Given the description of an element on the screen output the (x, y) to click on. 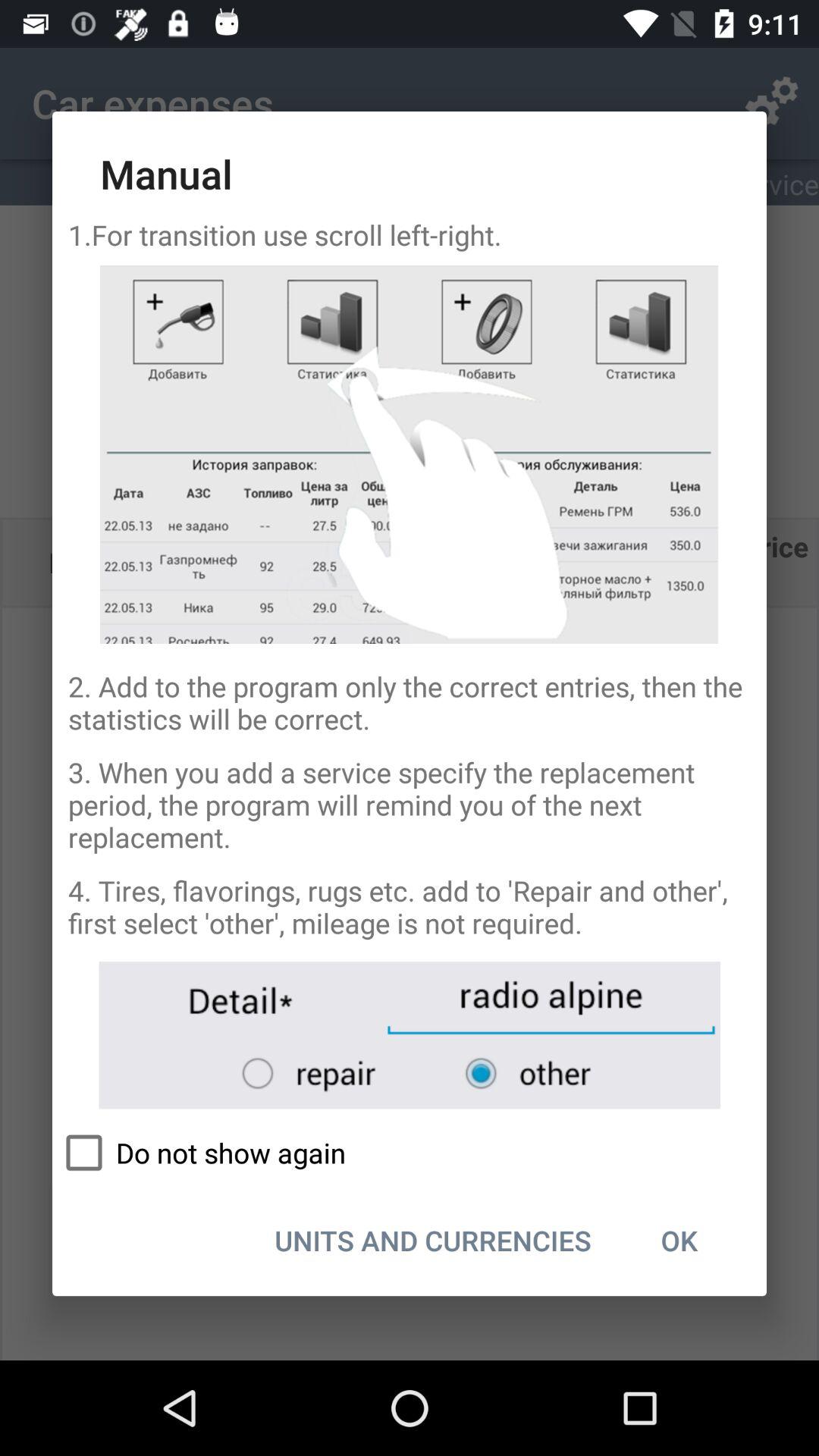
jump until do not show (409, 1152)
